Given the description of an element on the screen output the (x, y) to click on. 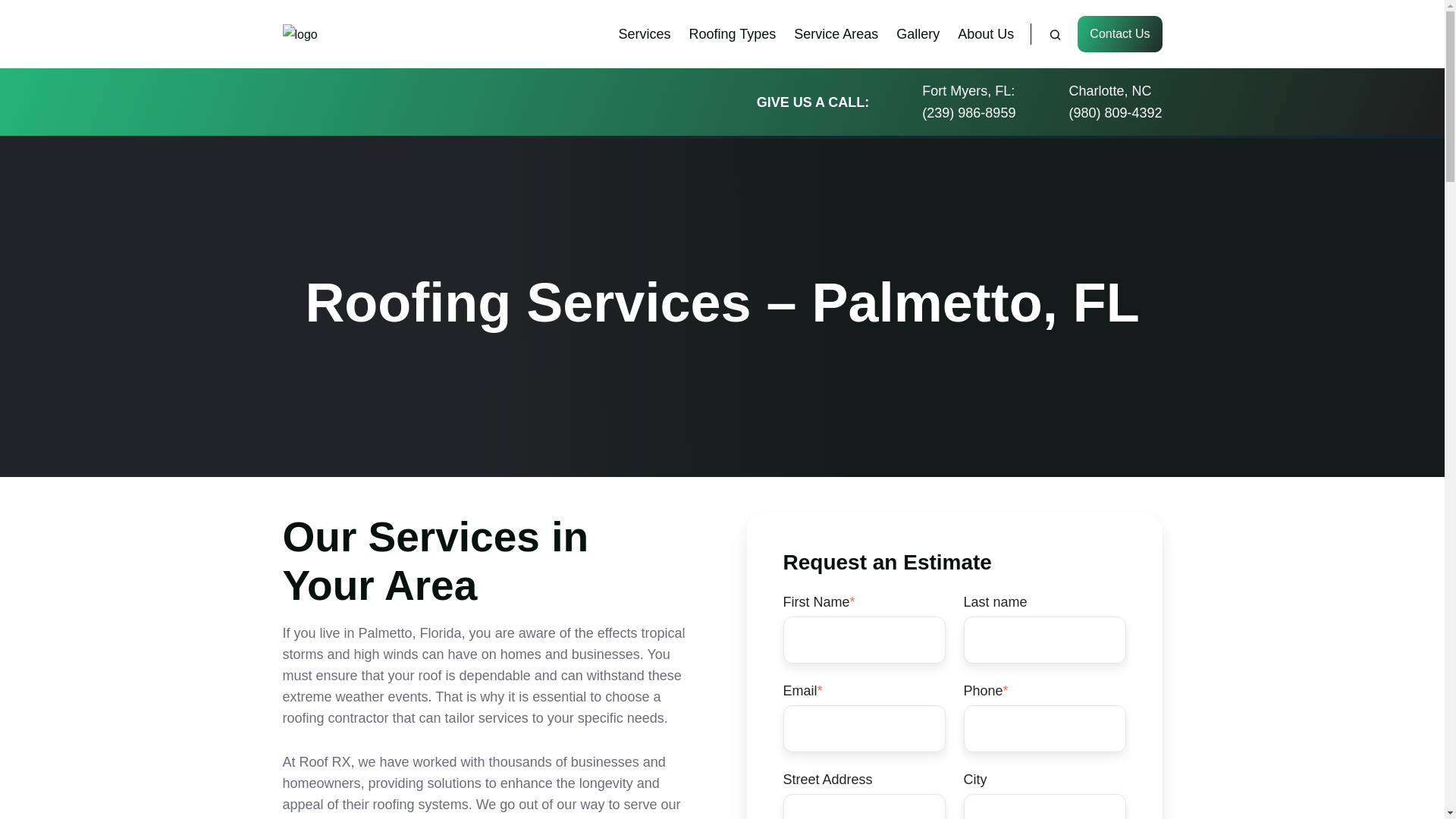
Gallery (917, 33)
Services (643, 33)
About Us (985, 33)
Service Areas (835, 33)
Contact Us (1119, 33)
Roofing Types (732, 33)
